Given the description of an element on the screen output the (x, y) to click on. 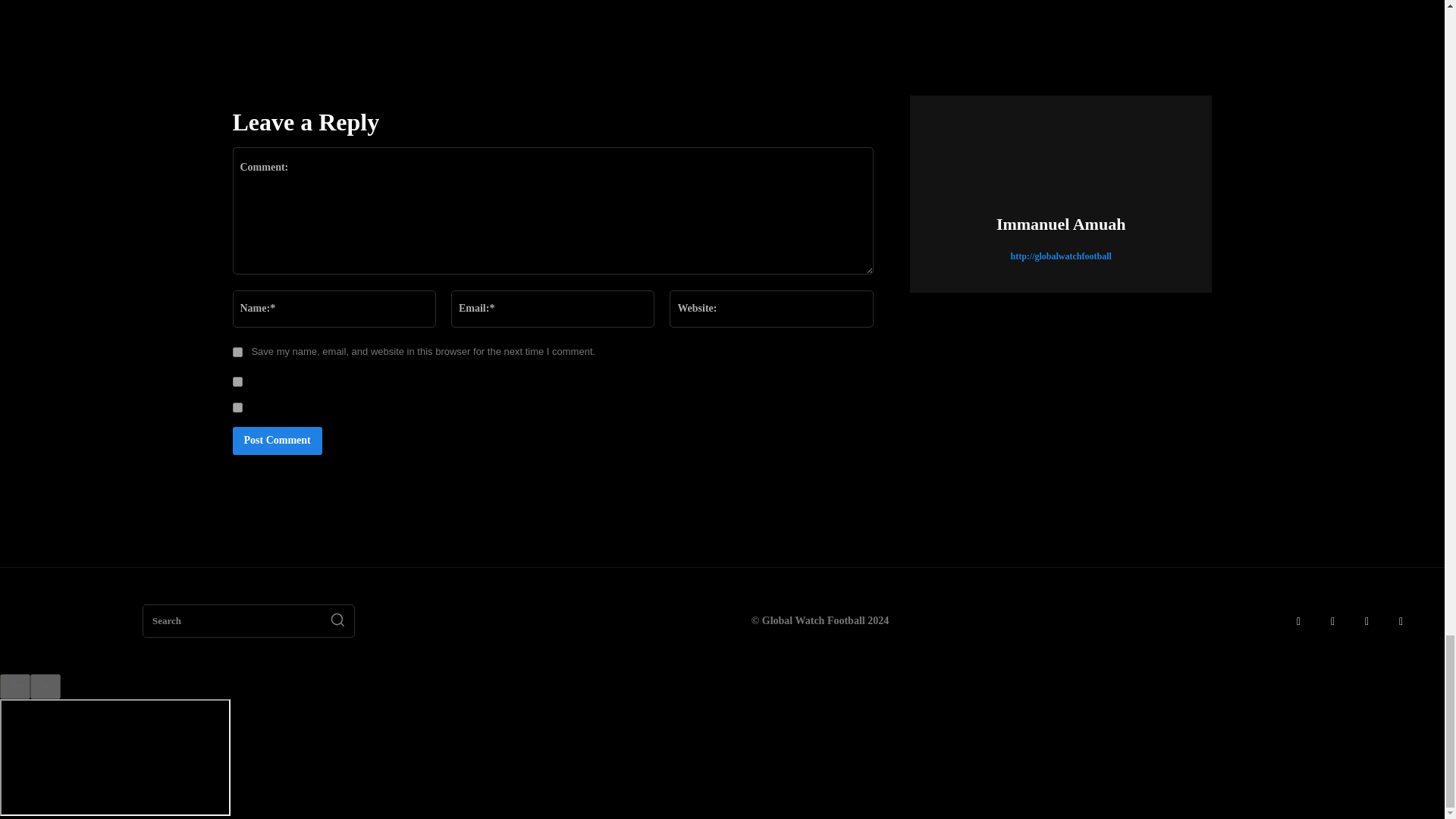
subscribe (236, 381)
yes (236, 352)
Post Comment (276, 440)
subscribe (236, 407)
